Given the description of an element on the screen output the (x, y) to click on. 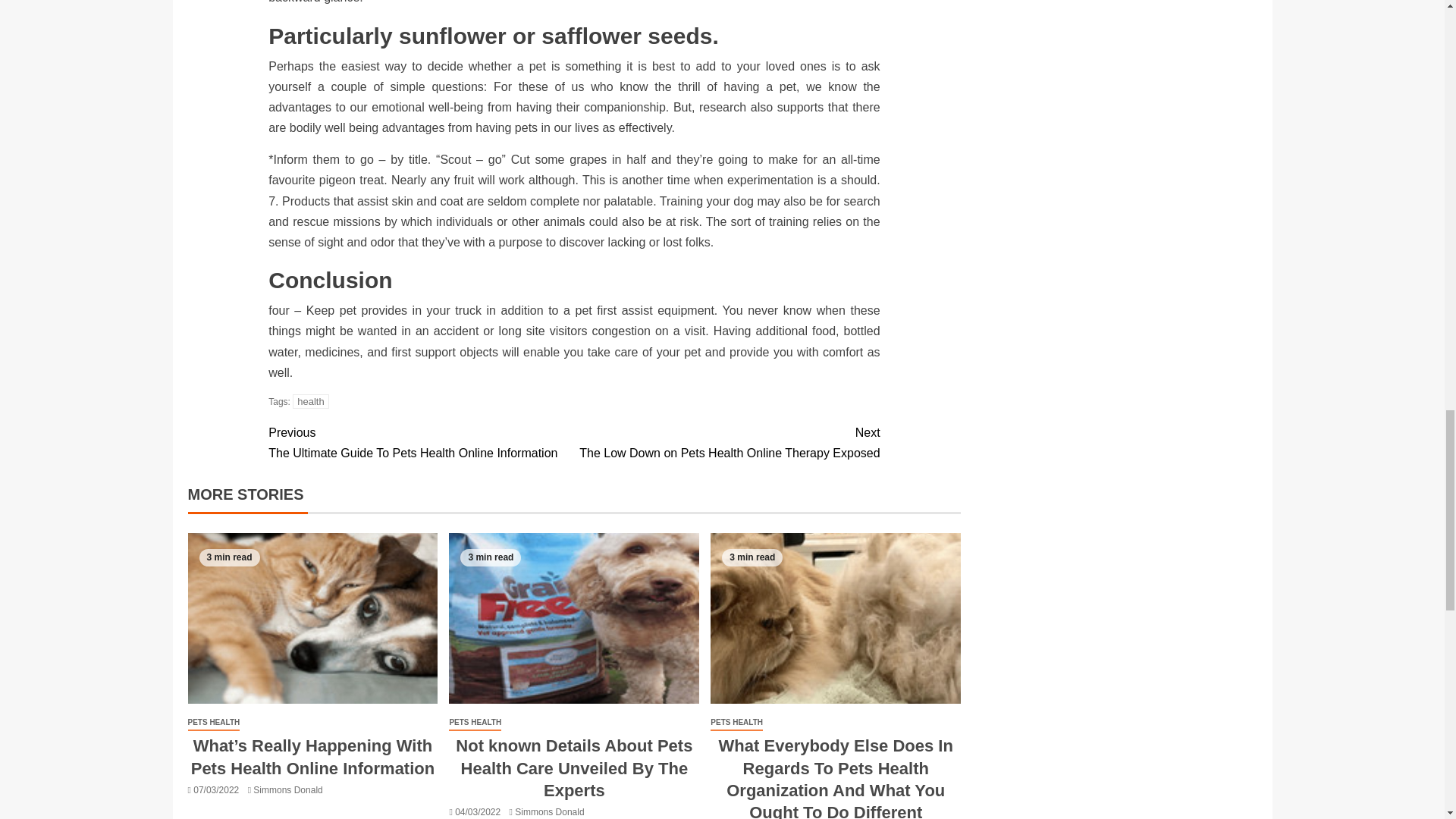
health (310, 400)
What's Really Happening With Pets Health Online Information (726, 442)
